Given the description of an element on the screen output the (x, y) to click on. 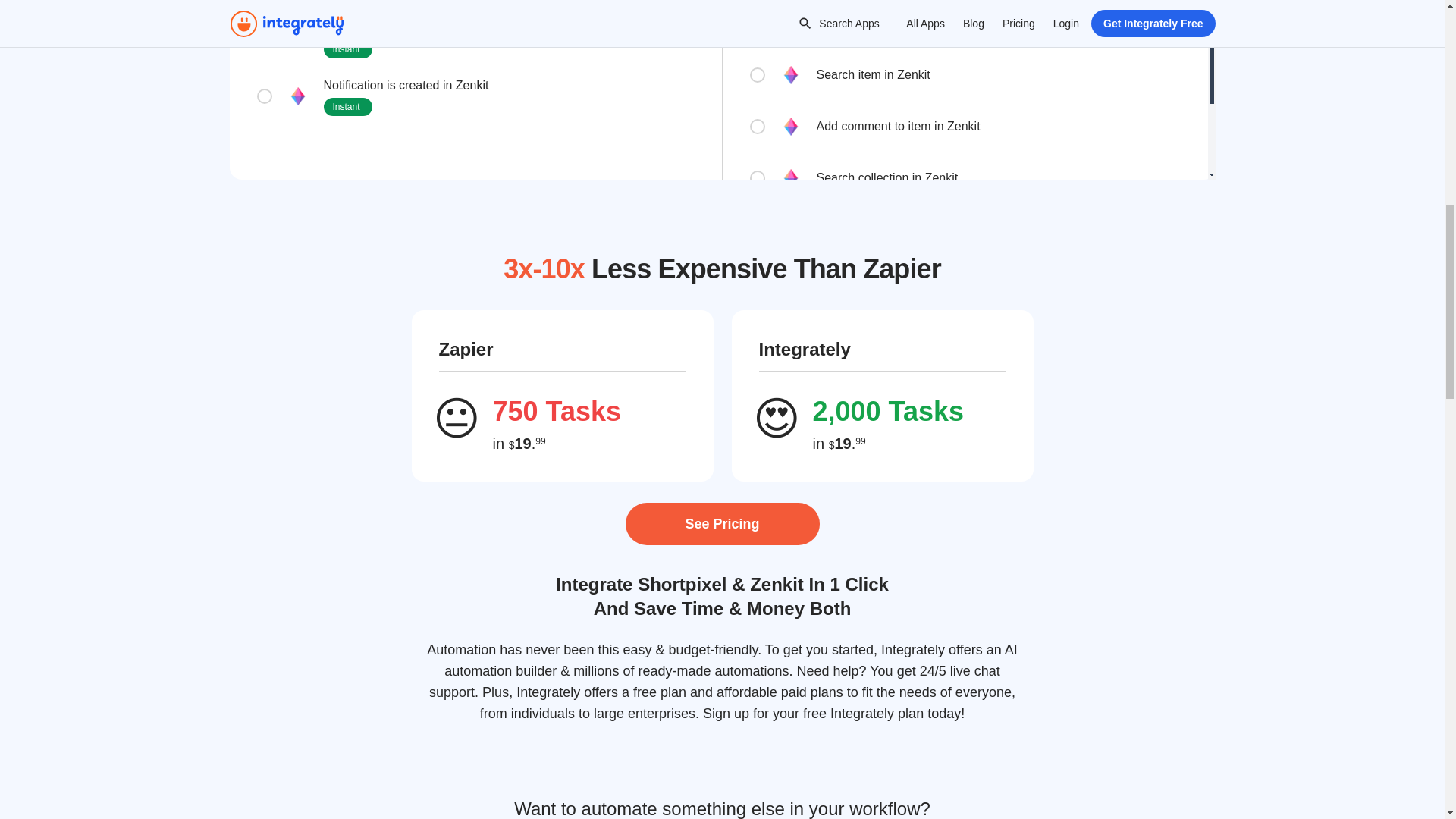
See Pricing (721, 523)
